Given the description of an element on the screen output the (x, y) to click on. 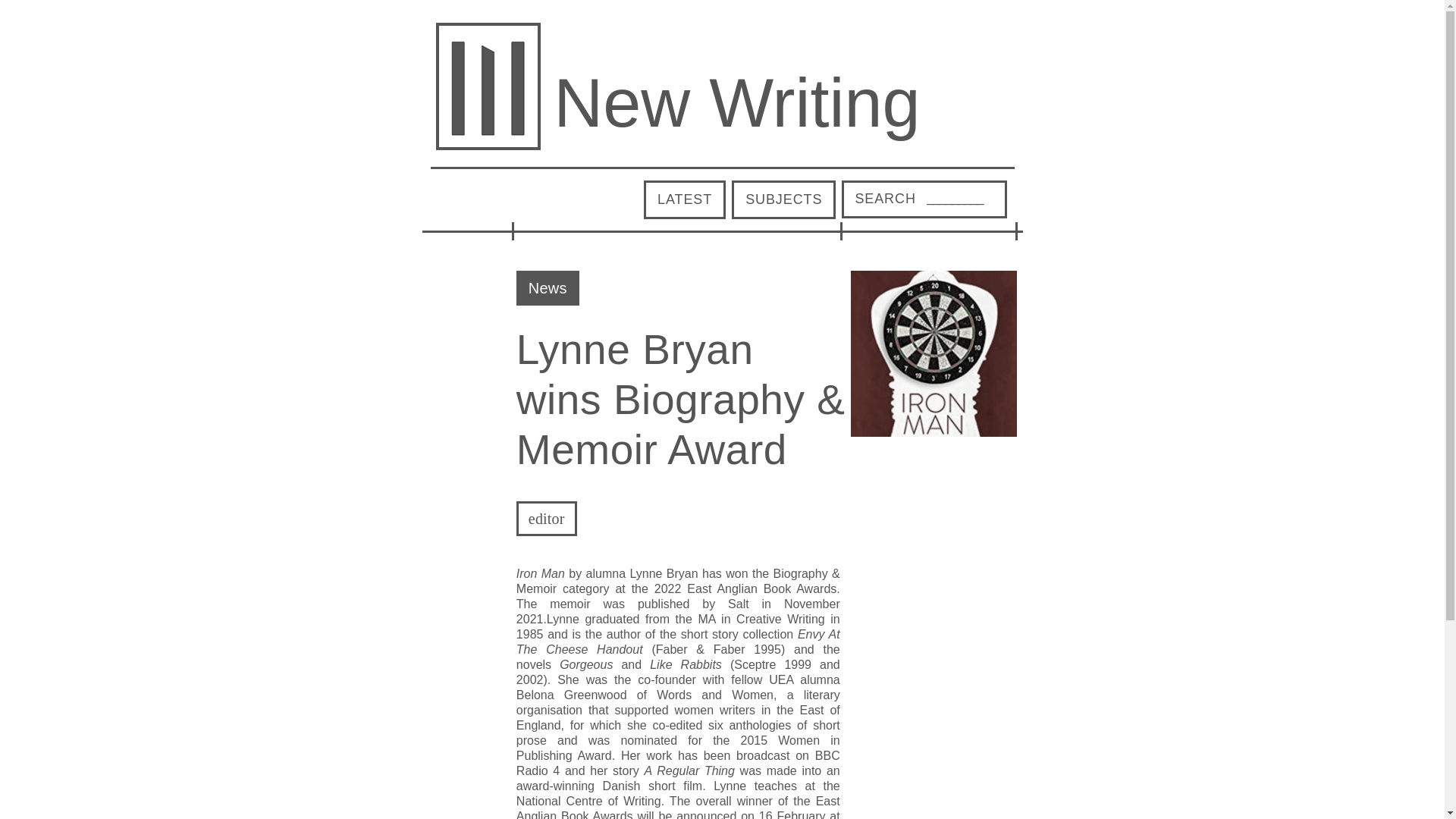
SUBJECTS (783, 199)
Search (885, 199)
News (547, 287)
editor (546, 518)
Search (885, 199)
LATEST (684, 199)
New Writing (736, 102)
